Given the description of an element on the screen output the (x, y) to click on. 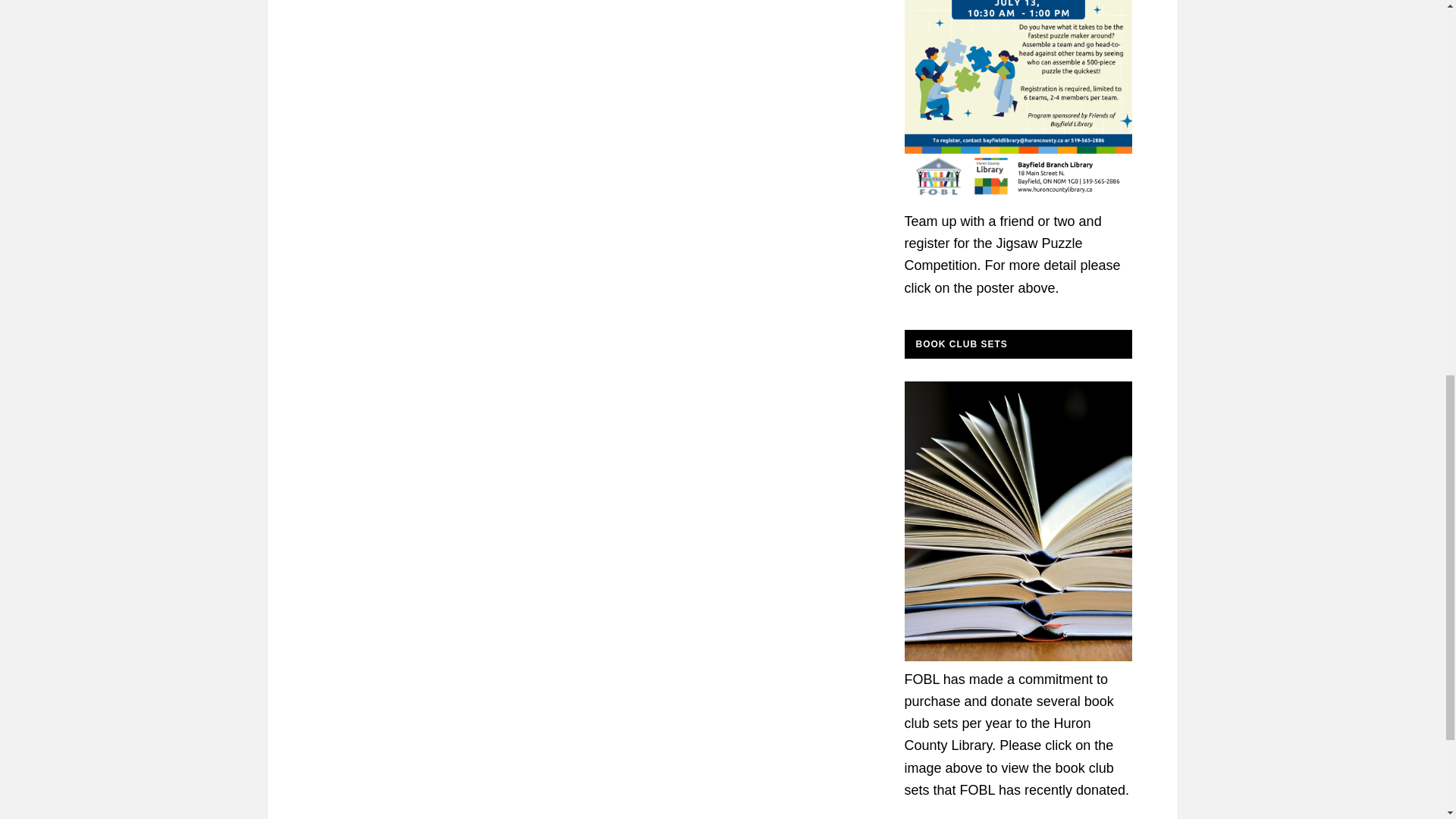
Book Club Sets (1017, 656)
